Given the description of an element on the screen output the (x, y) to click on. 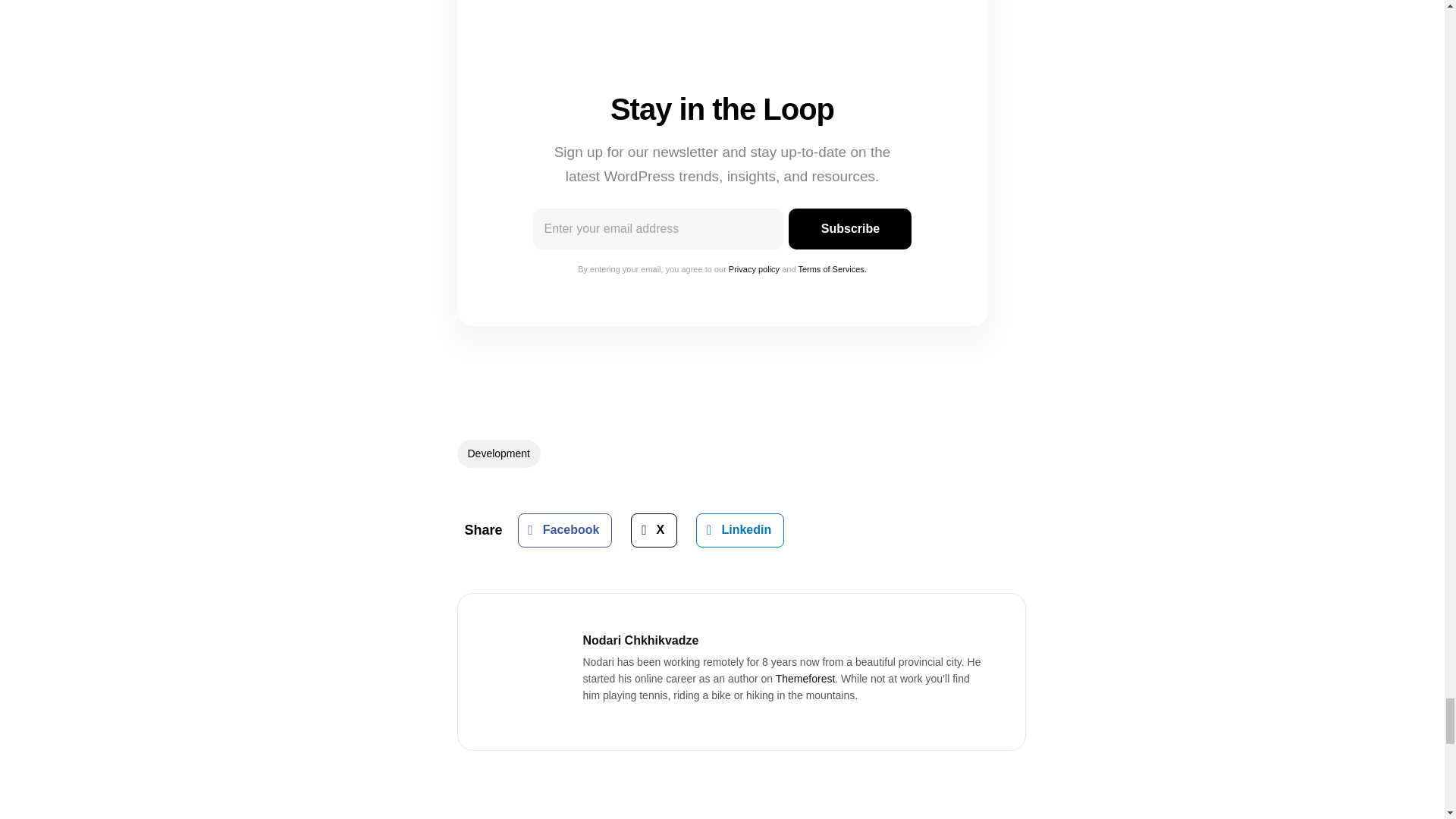
Subscribe (850, 228)
Privacy policy (753, 267)
Development (498, 453)
Terms of Services. (831, 267)
